Given the description of an element on the screen output the (x, y) to click on. 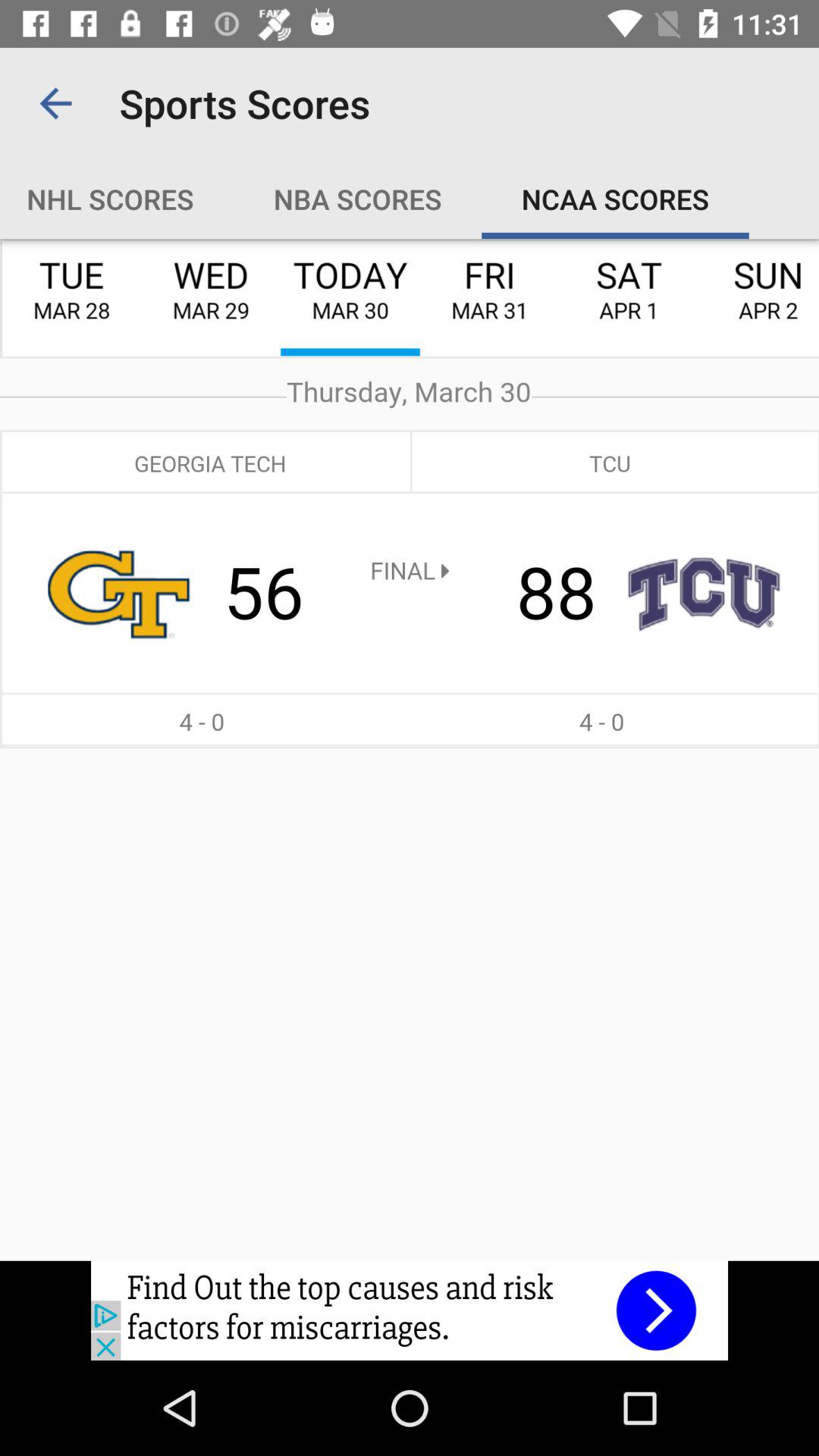
image link to advertisement (409, 1310)
